Given the description of an element on the screen output the (x, y) to click on. 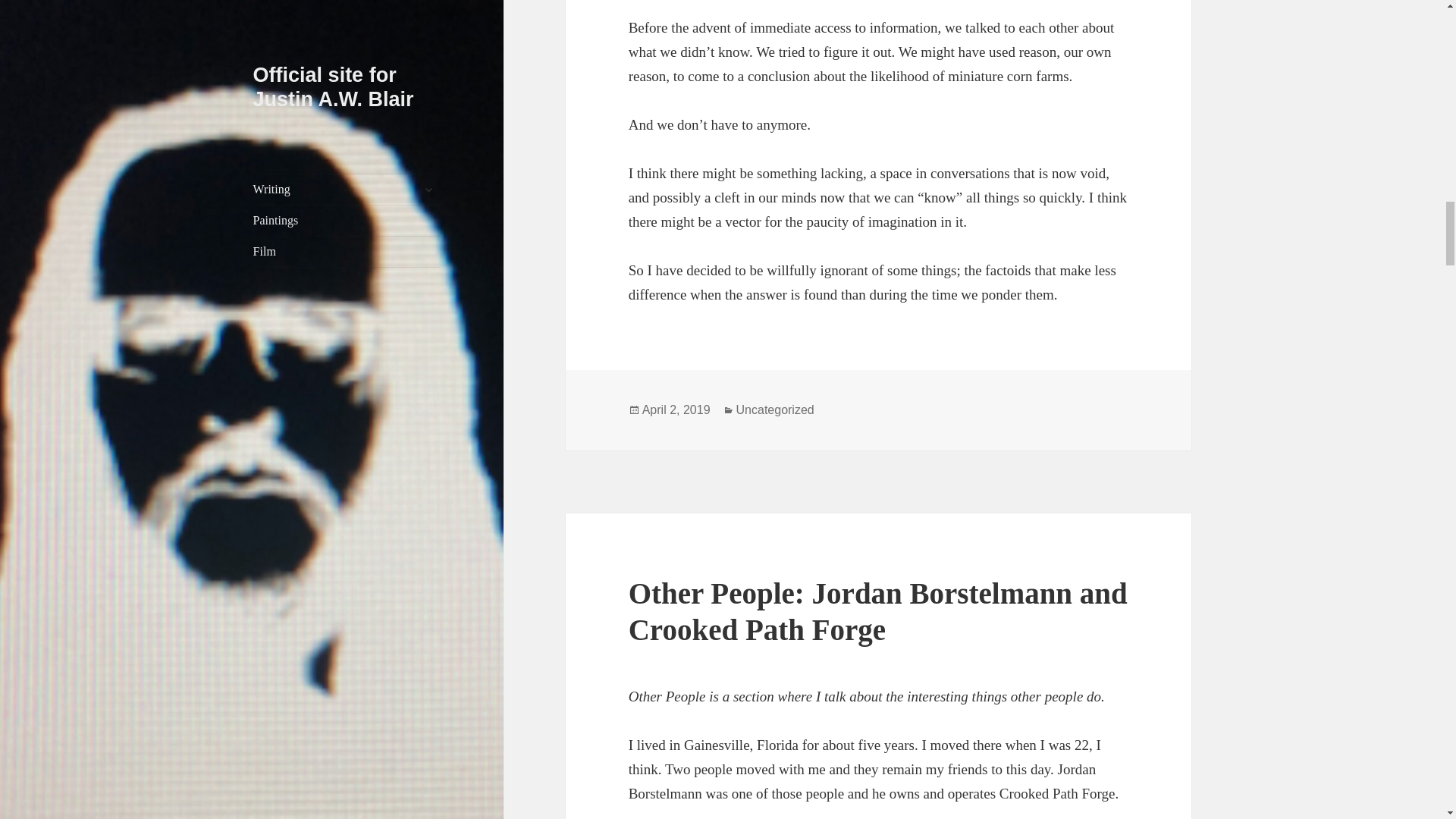
Uncategorized (774, 409)
Other People: Jordan Borstelmann and Crooked Path Forge (877, 611)
April 2, 2019 (676, 409)
